Given the description of an element on the screen output the (x, y) to click on. 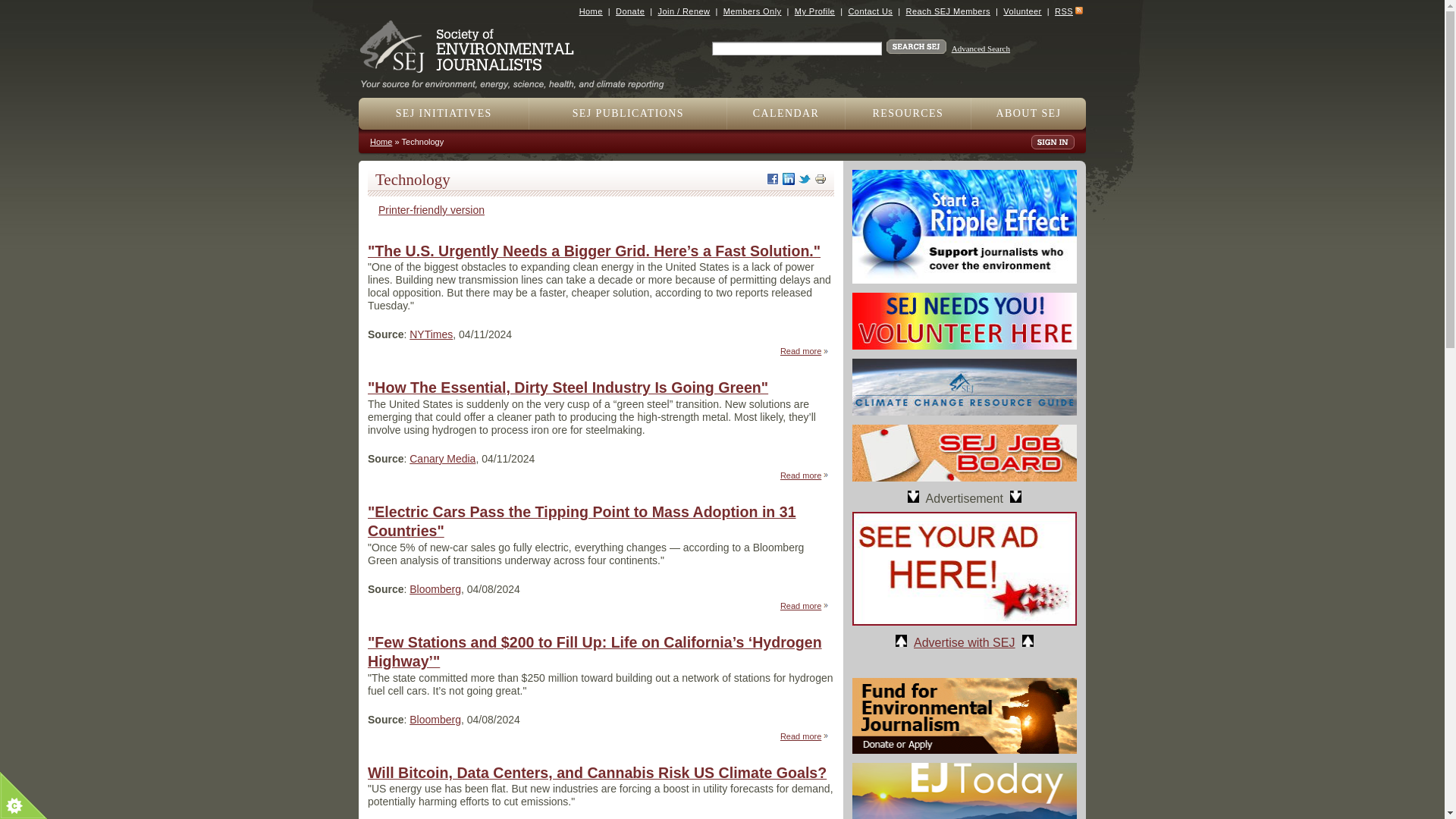
Home (590, 10)
SEJ PUBLICATIONS (627, 113)
RSS (1063, 10)
Home (518, 79)
Enter the terms you wish to search for. (796, 48)
Members Only (752, 10)
Donate (630, 10)
My Profile (814, 10)
Volunteer (1022, 10)
Contact Us (869, 10)
Advanced Search (981, 48)
SEJ INITIATIVES (443, 113)
Reach SEJ Members (947, 10)
